Given the description of an element on the screen output the (x, y) to click on. 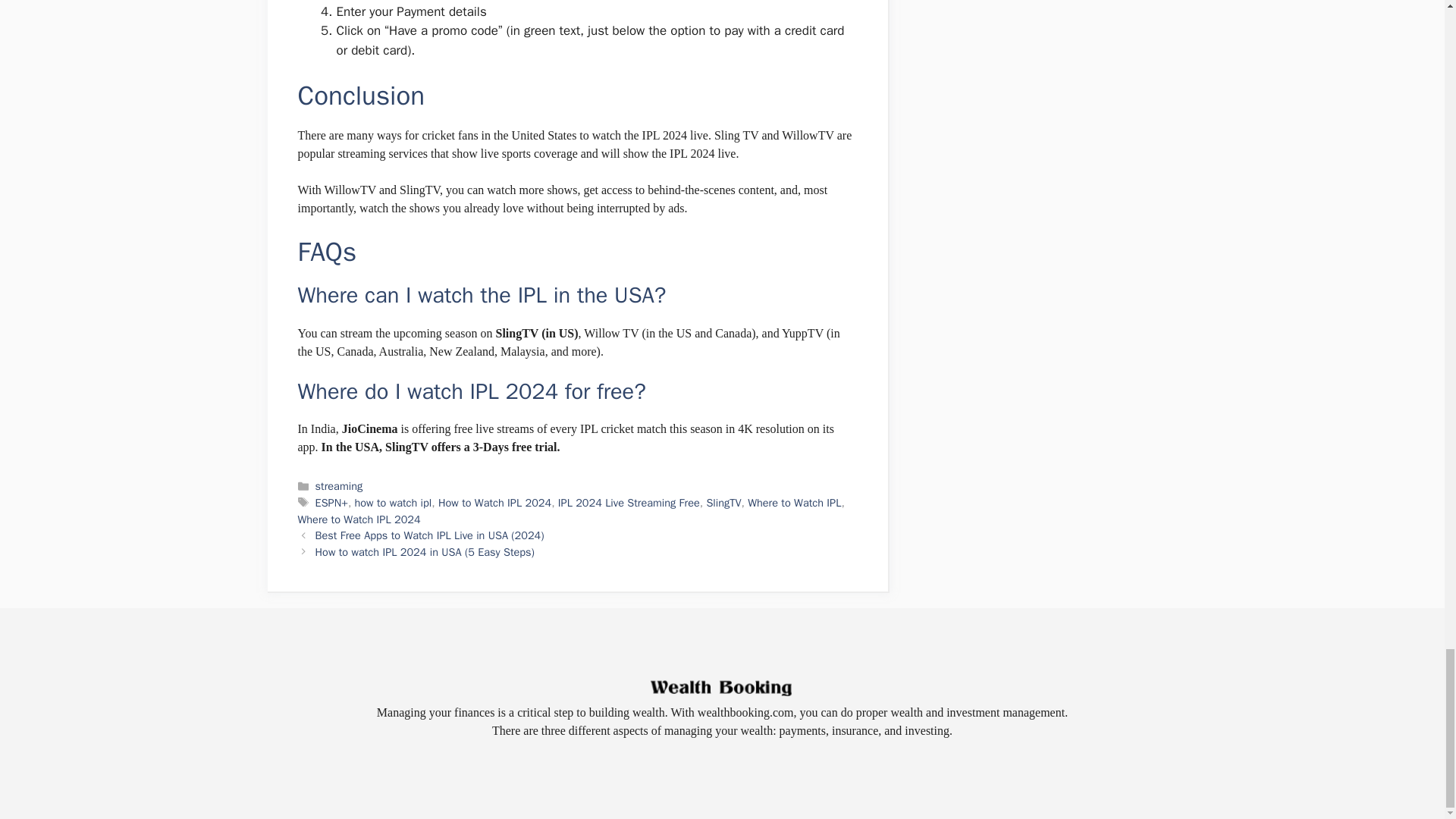
How to Watch IPL 2024 (494, 502)
IPL 2024 Live Streaming Free (628, 502)
streaming (338, 486)
Where to Watch IPL (794, 502)
how to watch ipl (393, 502)
SlingTV (723, 502)
